Given the description of an element on the screen output the (x, y) to click on. 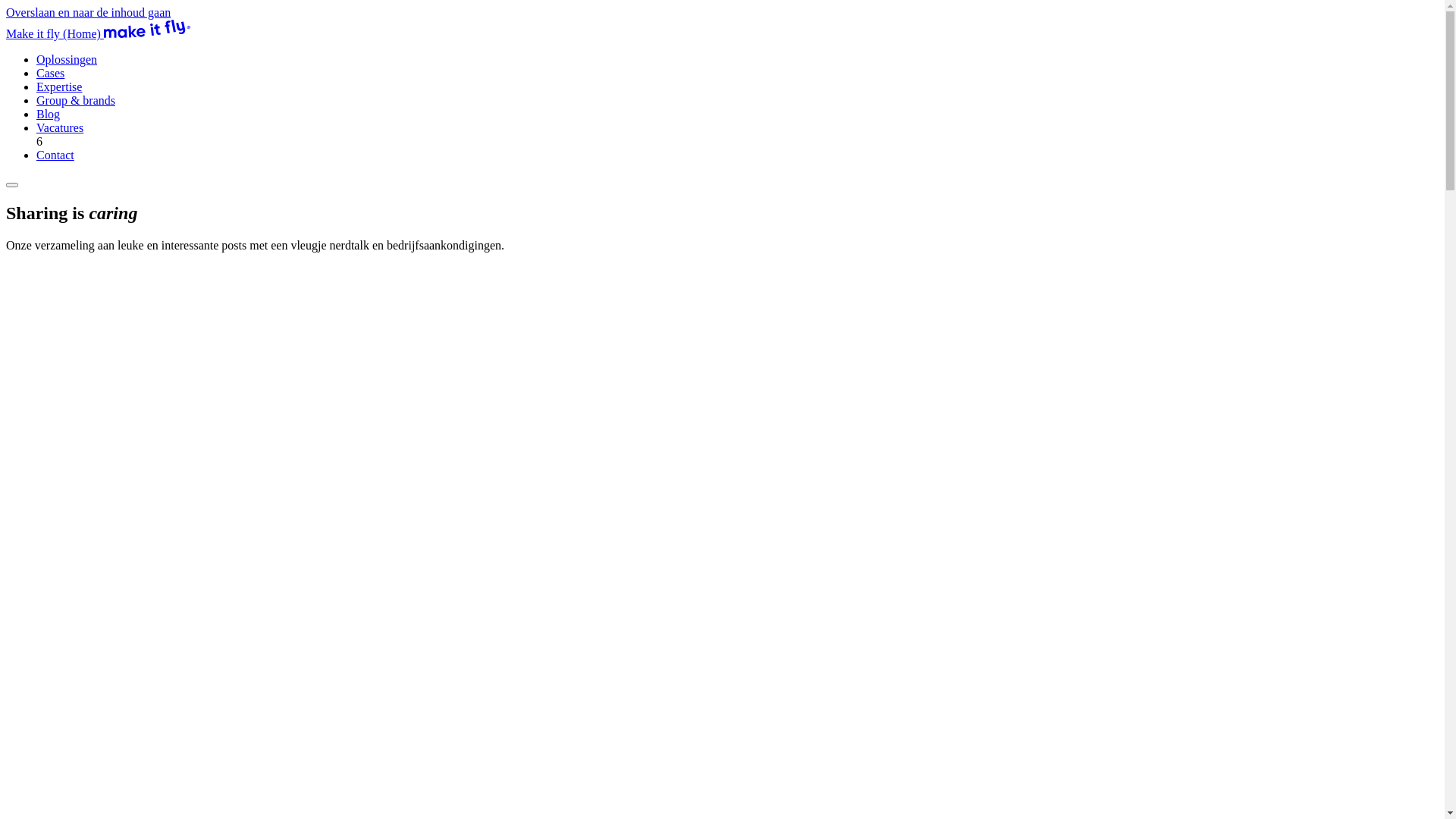
Make it fly (Home) Element type: text (98, 33)
Overslaan en naar de inhoud gaan Element type: text (88, 12)
Cases Element type: text (50, 72)
Blog Element type: text (47, 113)
Contact Element type: text (55, 154)
Vacatures Element type: text (59, 127)
Oplossingen Element type: text (66, 59)
Expertise Element type: text (58, 86)
Group & brands Element type: text (75, 100)
